Given the description of an element on the screen output the (x, y) to click on. 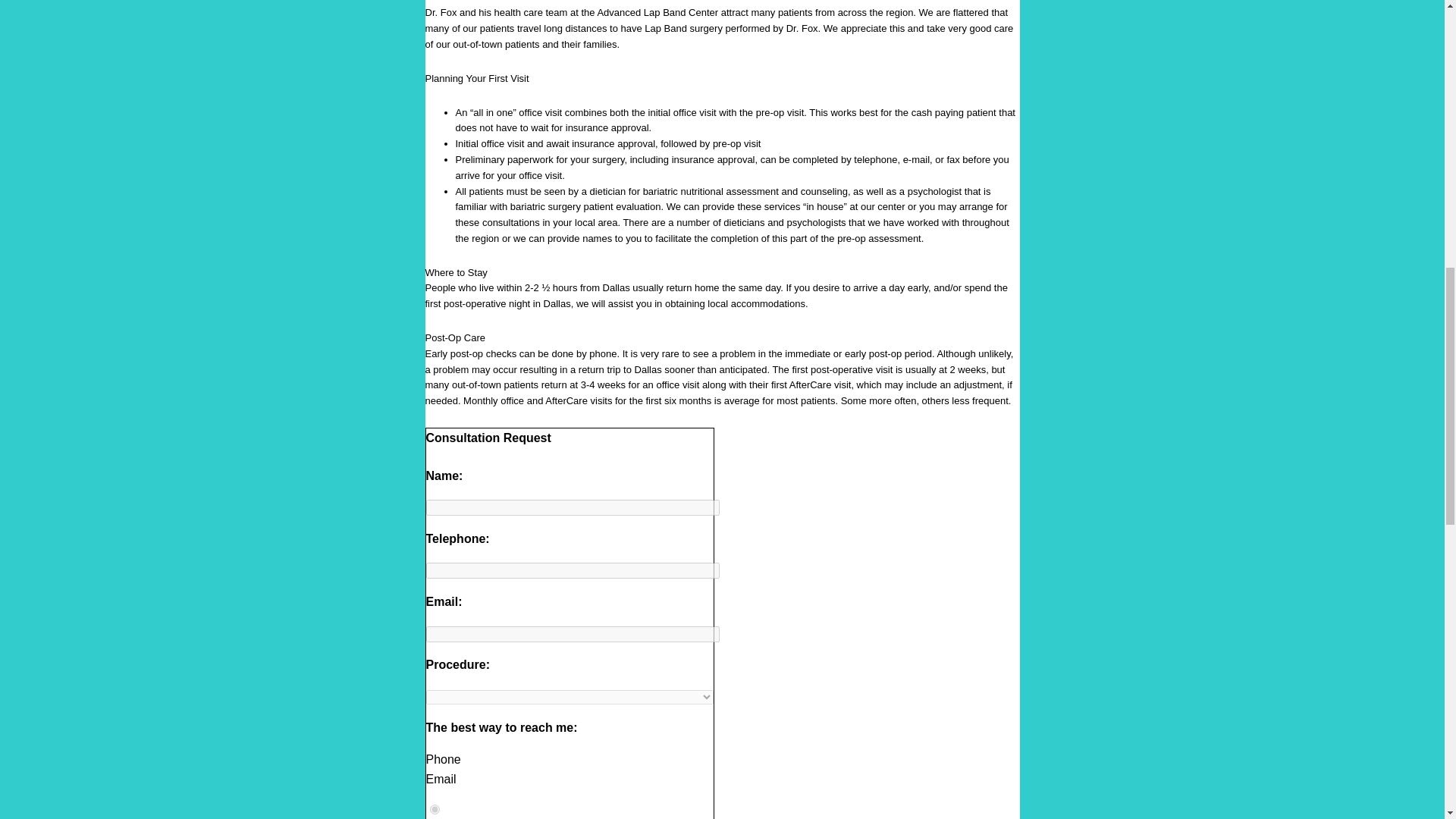
telephone (434, 809)
